Given the description of an element on the screen output the (x, y) to click on. 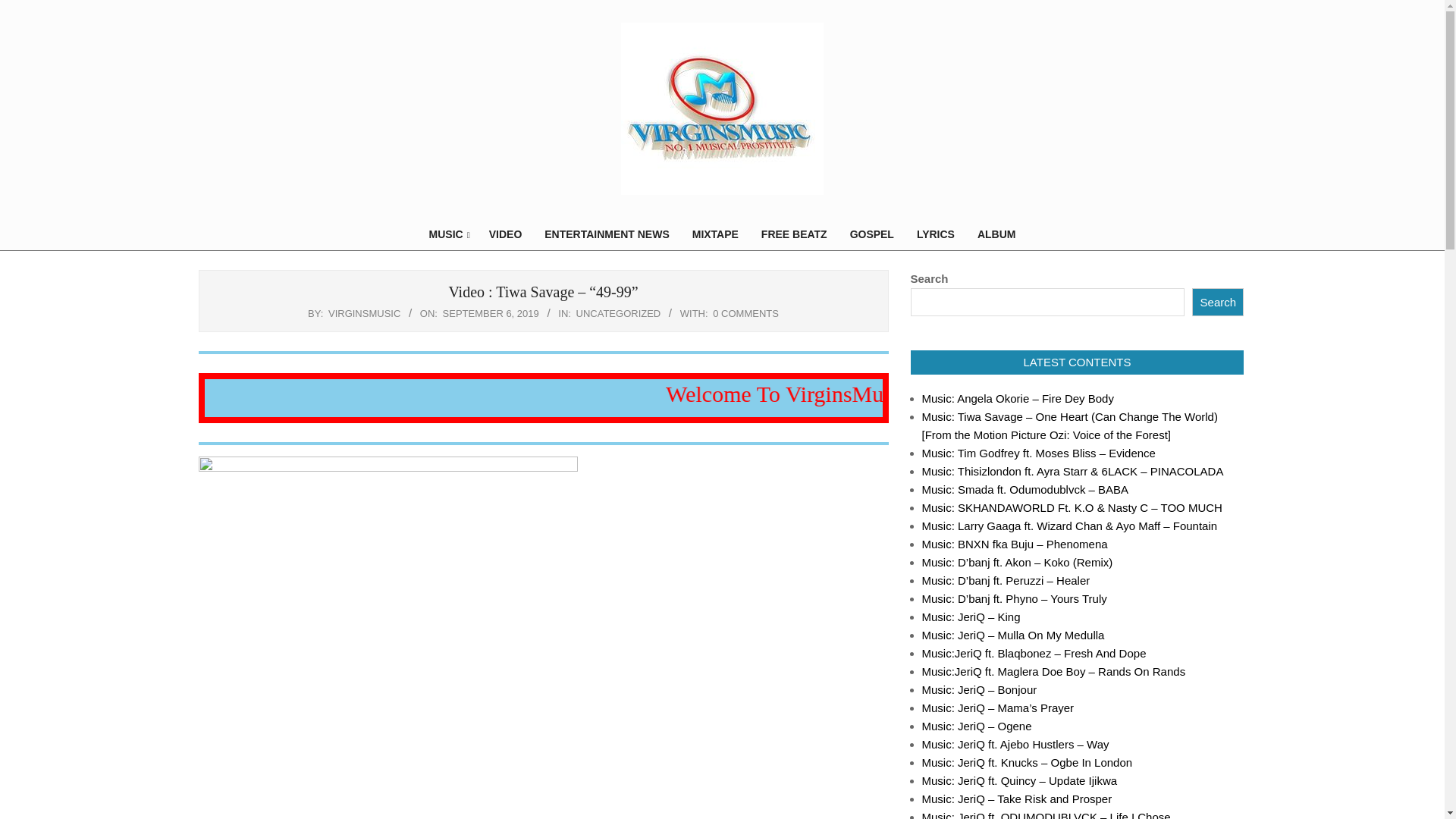
Search (1217, 302)
MIXTAPE (715, 234)
Friday, September 6, 2019, 11:57 am (490, 313)
ENTERTAINMENT NEWS (605, 234)
LYRICS (935, 234)
VIRGINSMUSIC (364, 313)
Posts by VirginsMusic (364, 313)
GOSPEL (871, 234)
ALBUM (996, 234)
MUSIC (447, 234)
